Given the description of an element on the screen output the (x, y) to click on. 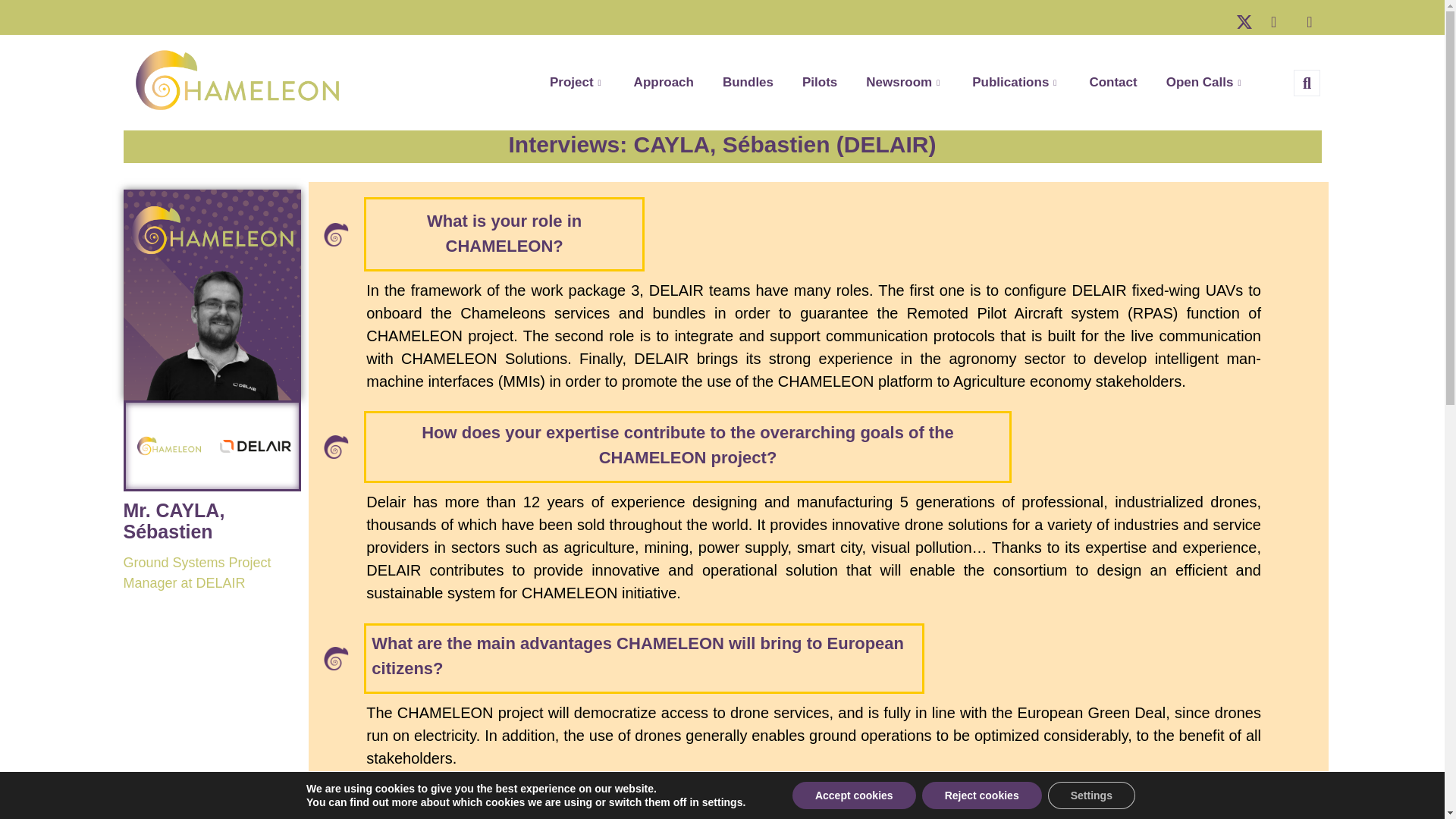
Publications (1016, 82)
Bundles (747, 82)
Newsroom (904, 82)
Accept cookies (853, 795)
Contact (1112, 82)
Open Calls (1205, 82)
Project (577, 82)
Pilots (819, 82)
Reject cookies (981, 795)
Settings (1091, 795)
